Given the description of an element on the screen output the (x, y) to click on. 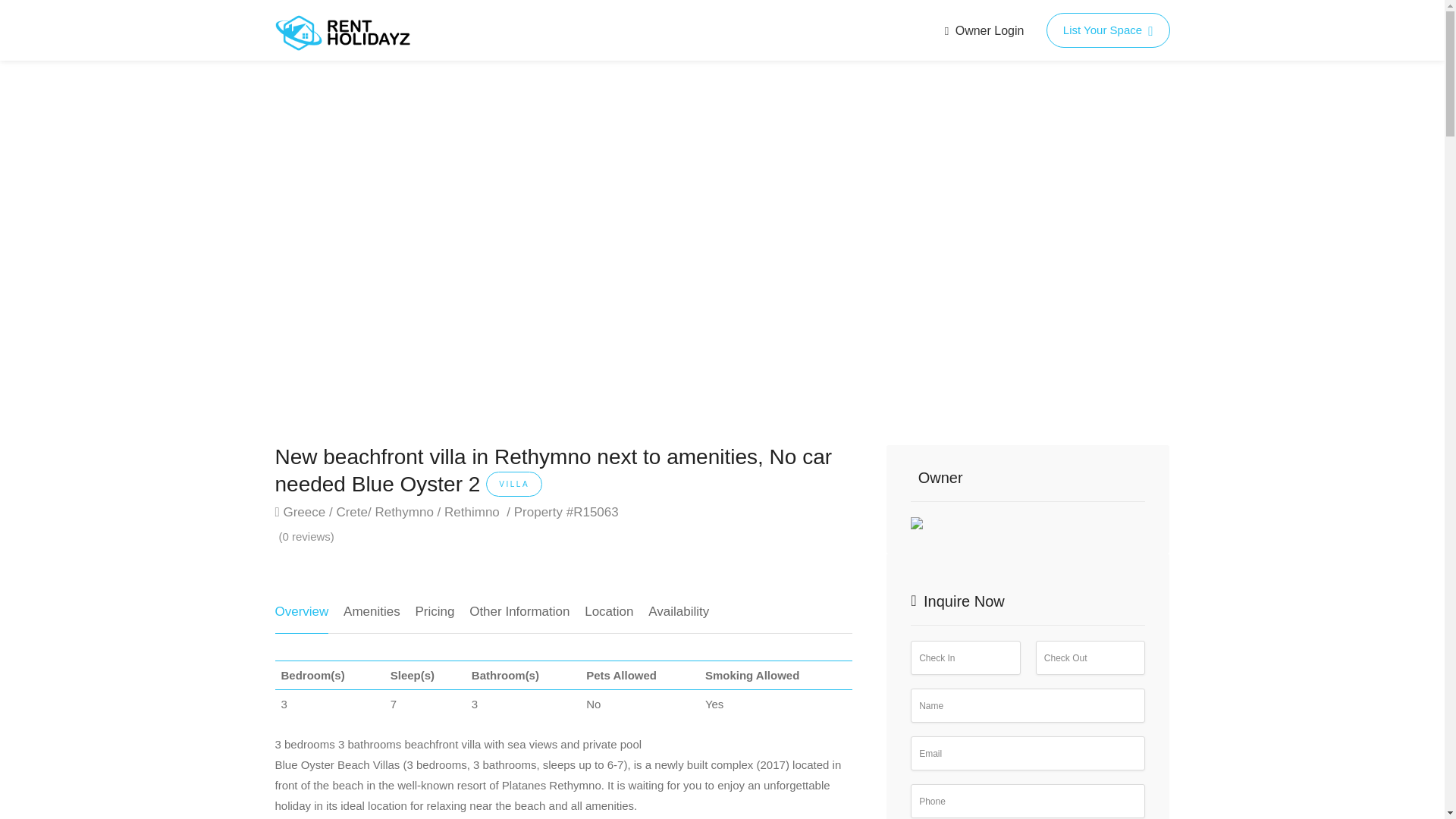
Greece (303, 512)
Pricing (434, 617)
Rethymno (403, 512)
Crete (352, 512)
Rethimno (471, 512)
Amenities (371, 617)
Overview (302, 617)
Owner Login (984, 30)
List Your Space (1108, 30)
